Given the description of an element on the screen output the (x, y) to click on. 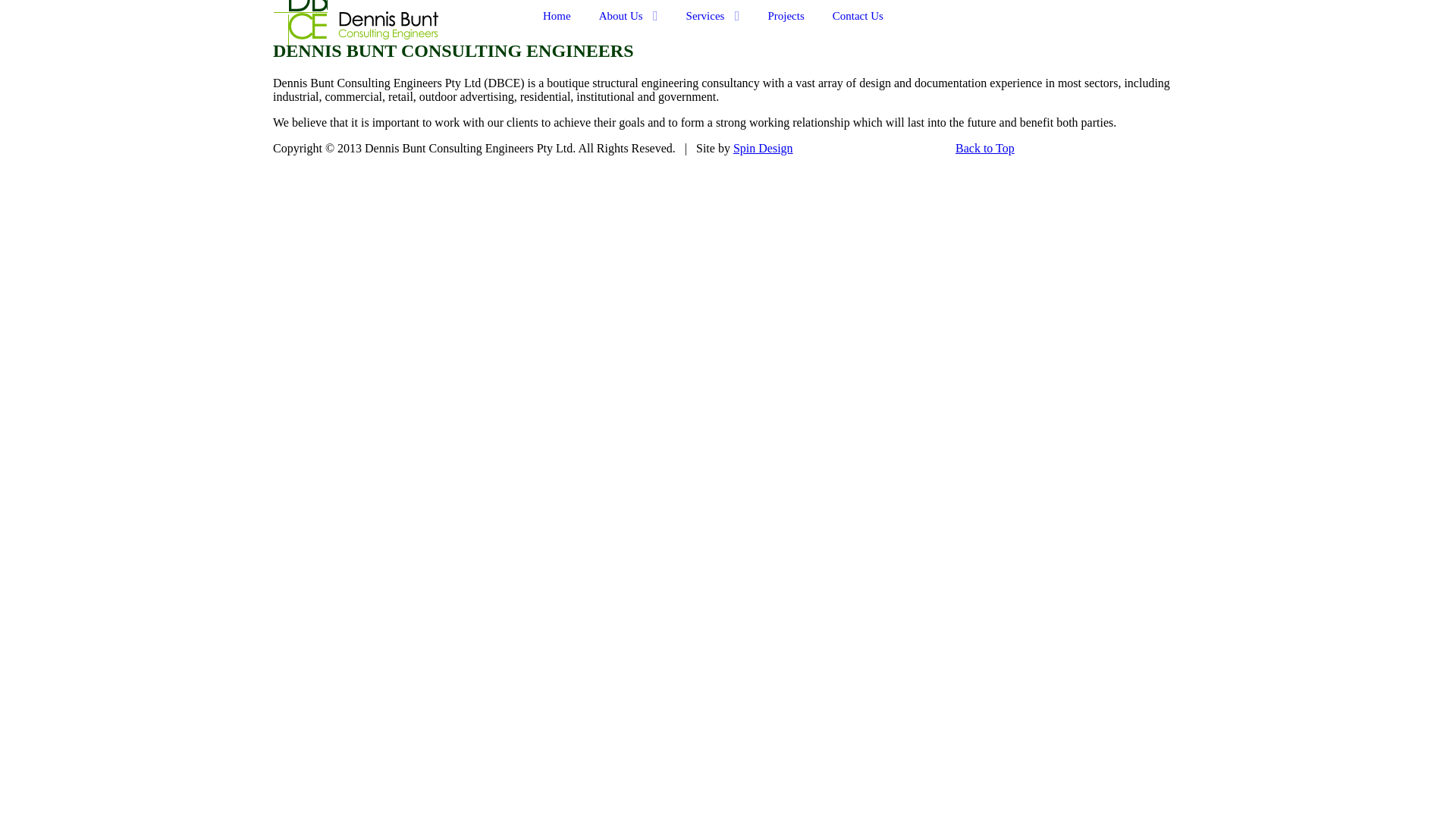
Back to Top Element type: text (984, 147)
Services Element type: text (712, 15)
Projects Element type: text (785, 15)
About Us Element type: text (628, 15)
Contact Us Element type: text (857, 15)
Spin Design Element type: text (763, 147)
Home Element type: text (556, 15)
